Given the description of an element on the screen output the (x, y) to click on. 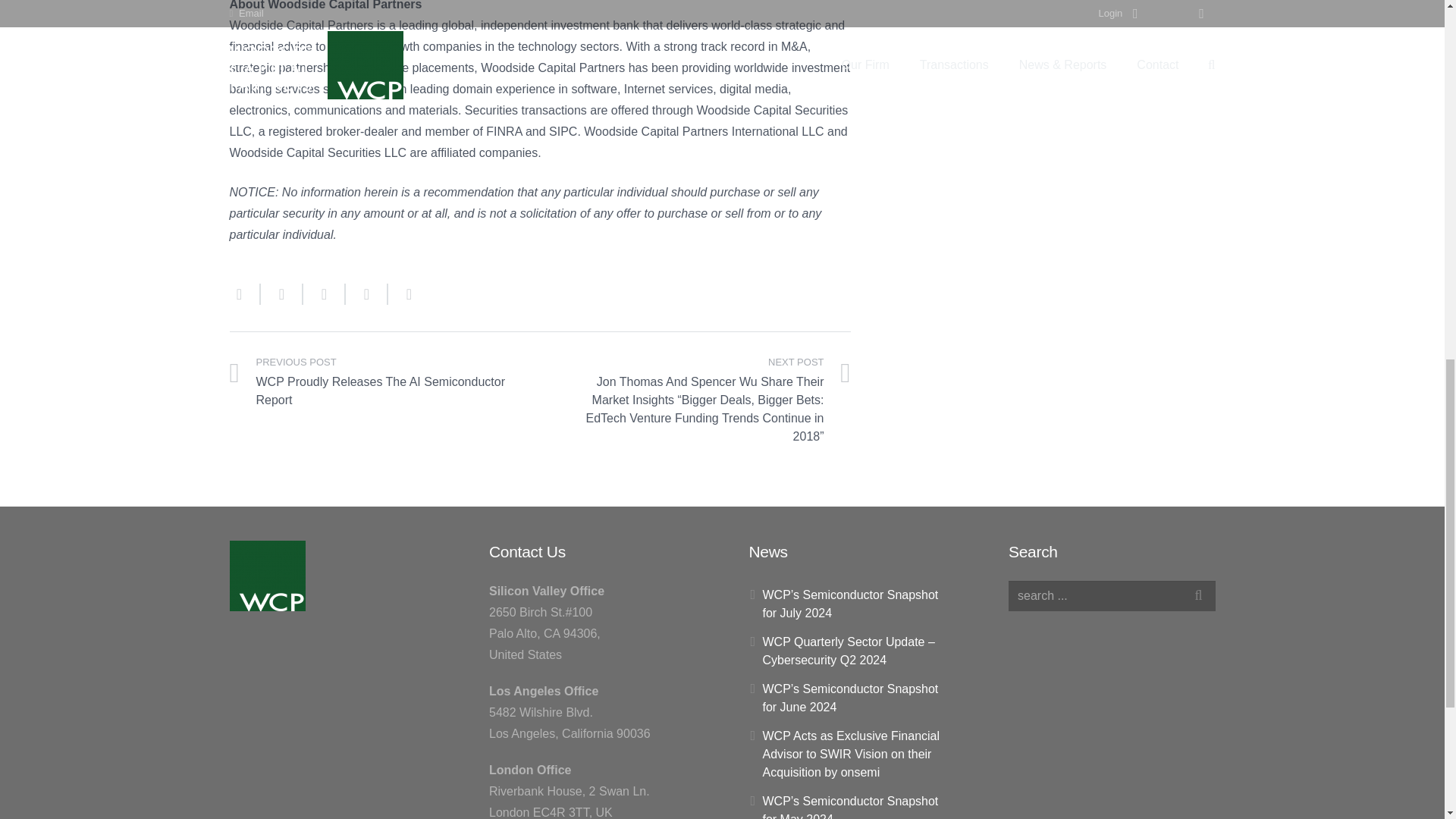
Tweet this (324, 293)
Share this (367, 293)
Pin this (403, 293)
Email this (244, 293)
Woodside Capital Partners (266, 575)
Share this (281, 293)
Back to top (1413, 22)
